Given the description of an element on the screen output the (x, y) to click on. 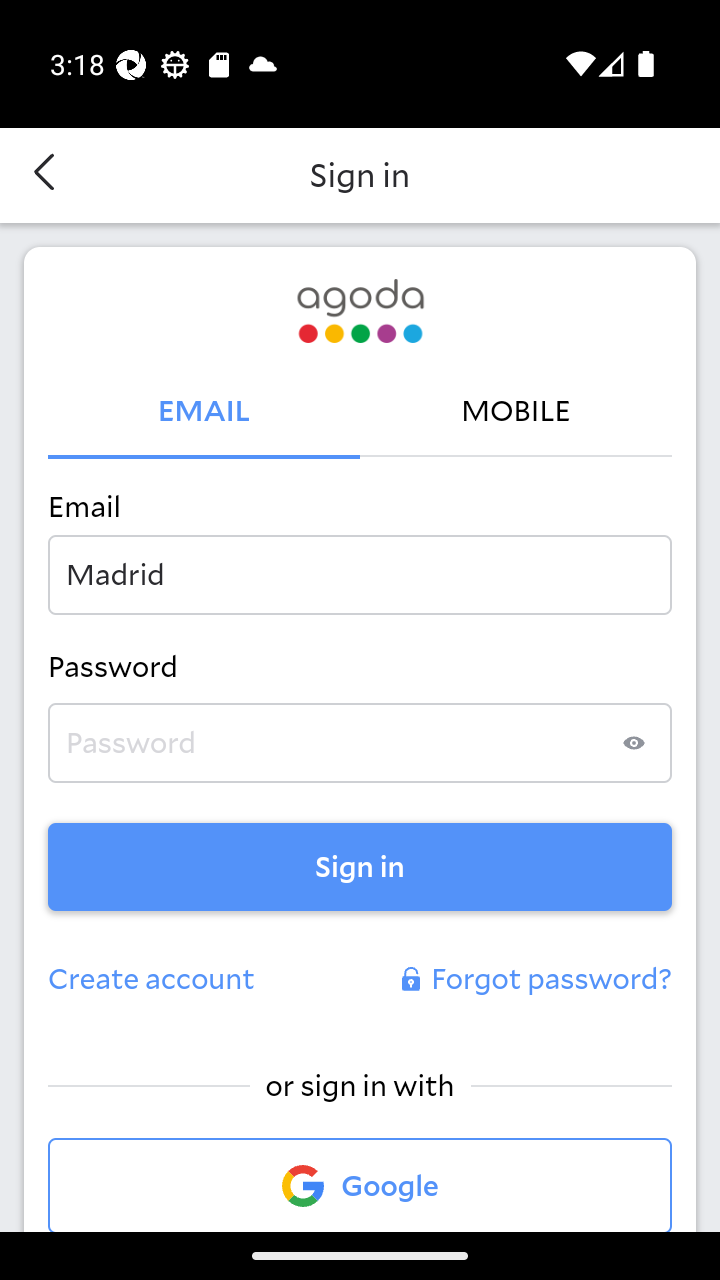
EMAIL (204, 412)
MOBILE (515, 412)
Madrid (359, 574)
Sign in (359, 866)
Create account (152, 979)
Forgot password? (534, 979)
Google (359, 1183)
